Given the description of an element on the screen output the (x, y) to click on. 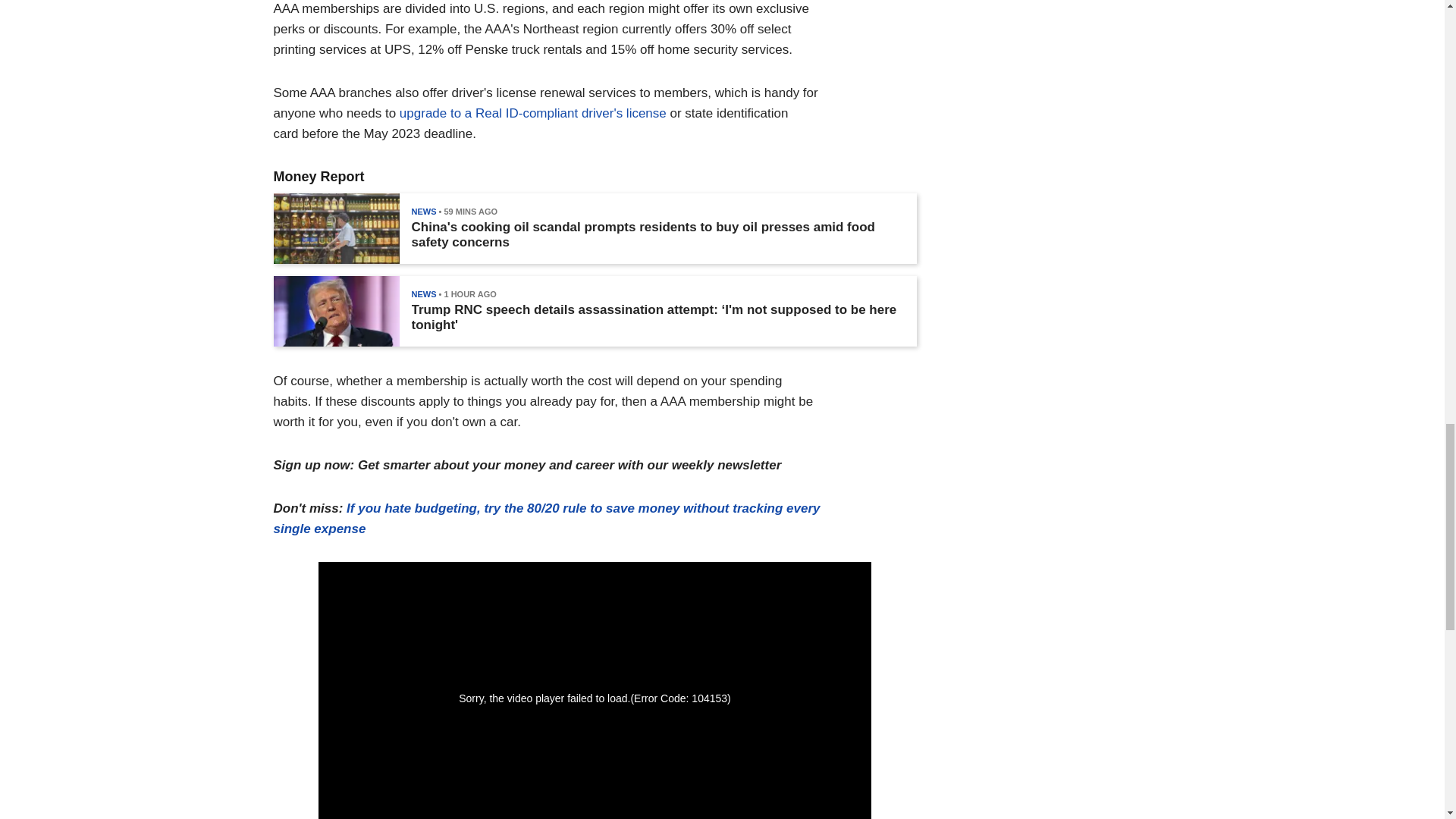
NEWS (422, 211)
3rd party ad content (1056, 80)
upgrade to a Real ID-compliant driver's license (532, 113)
